Given the description of an element on the screen output the (x, y) to click on. 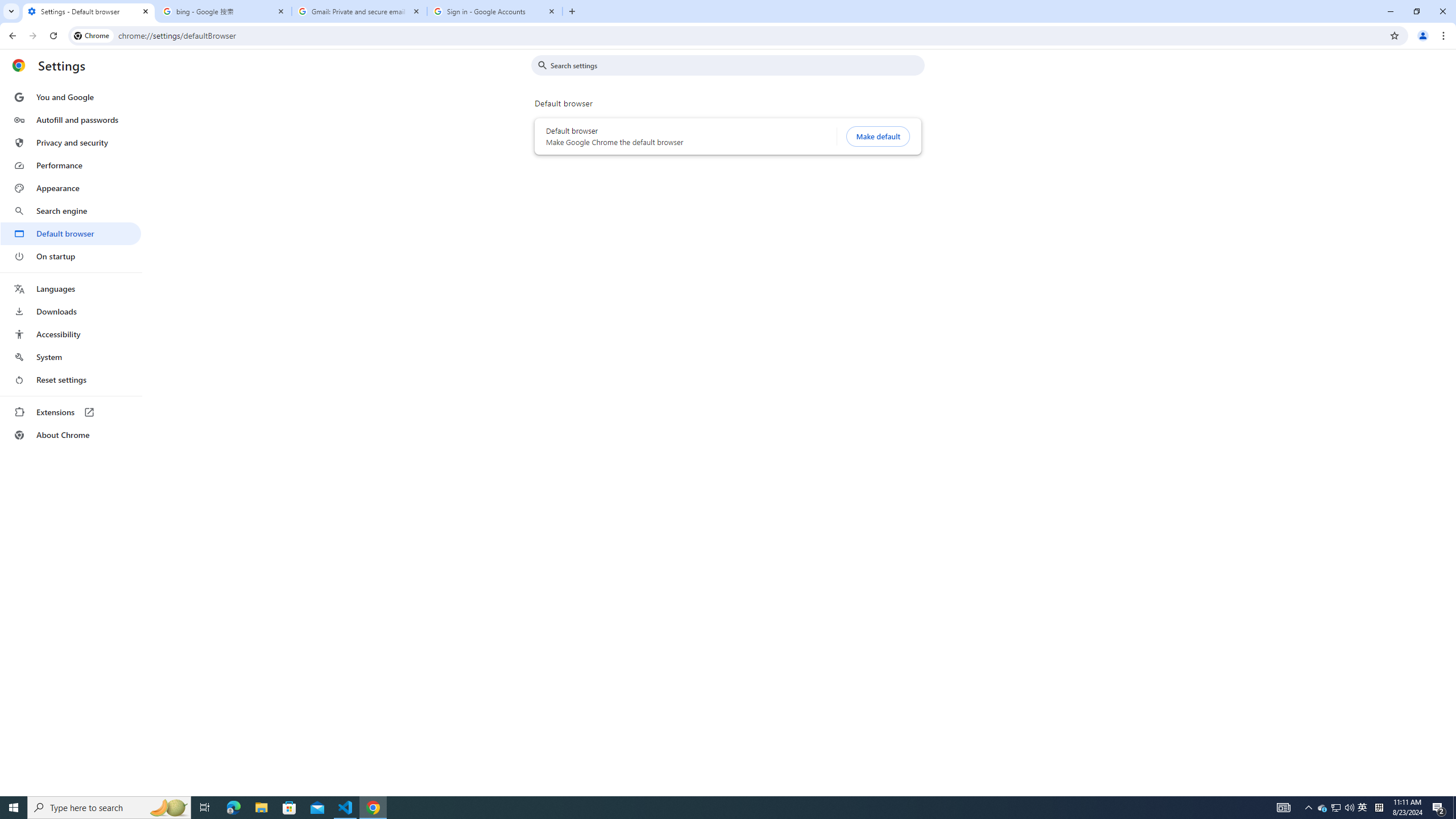
Performance (70, 164)
Autofill and passwords (70, 119)
Accessibility (70, 333)
Extensions (70, 412)
Languages (70, 288)
AutomationID: menu (71, 265)
Appearance (70, 187)
You and Google (70, 96)
